Given the description of an element on the screen output the (x, y) to click on. 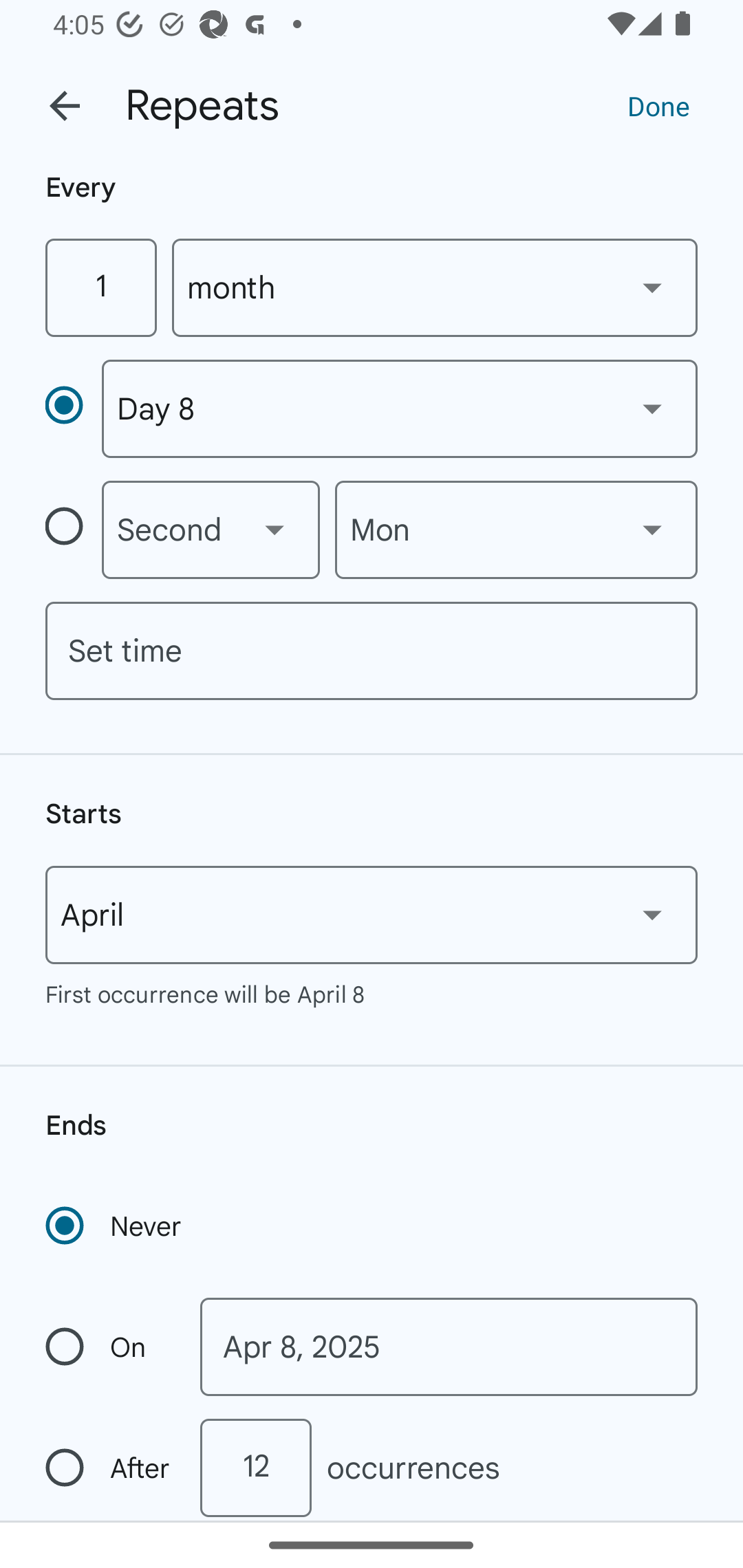
Back (64, 105)
Done (658, 105)
1 (100, 287)
month (434, 287)
Show dropdown menu (652, 286)
Day 8 (399, 408)
Show dropdown menu (652, 408)
Repeat monthly on a specific day of the month (73, 408)
Second (210, 529)
Mon (516, 529)
Show dropdown menu (274, 529)
Show dropdown menu (652, 529)
Repeat monthly on a specific weekday (73, 529)
Set time (371, 650)
April (371, 914)
Show dropdown menu (652, 913)
Never Recurrence never ends (115, 1225)
Apr 8, 2025 (448, 1346)
On Recurrence ends on a specific date (109, 1346)
12 (255, 1468)
